Given the description of an element on the screen output the (x, y) to click on. 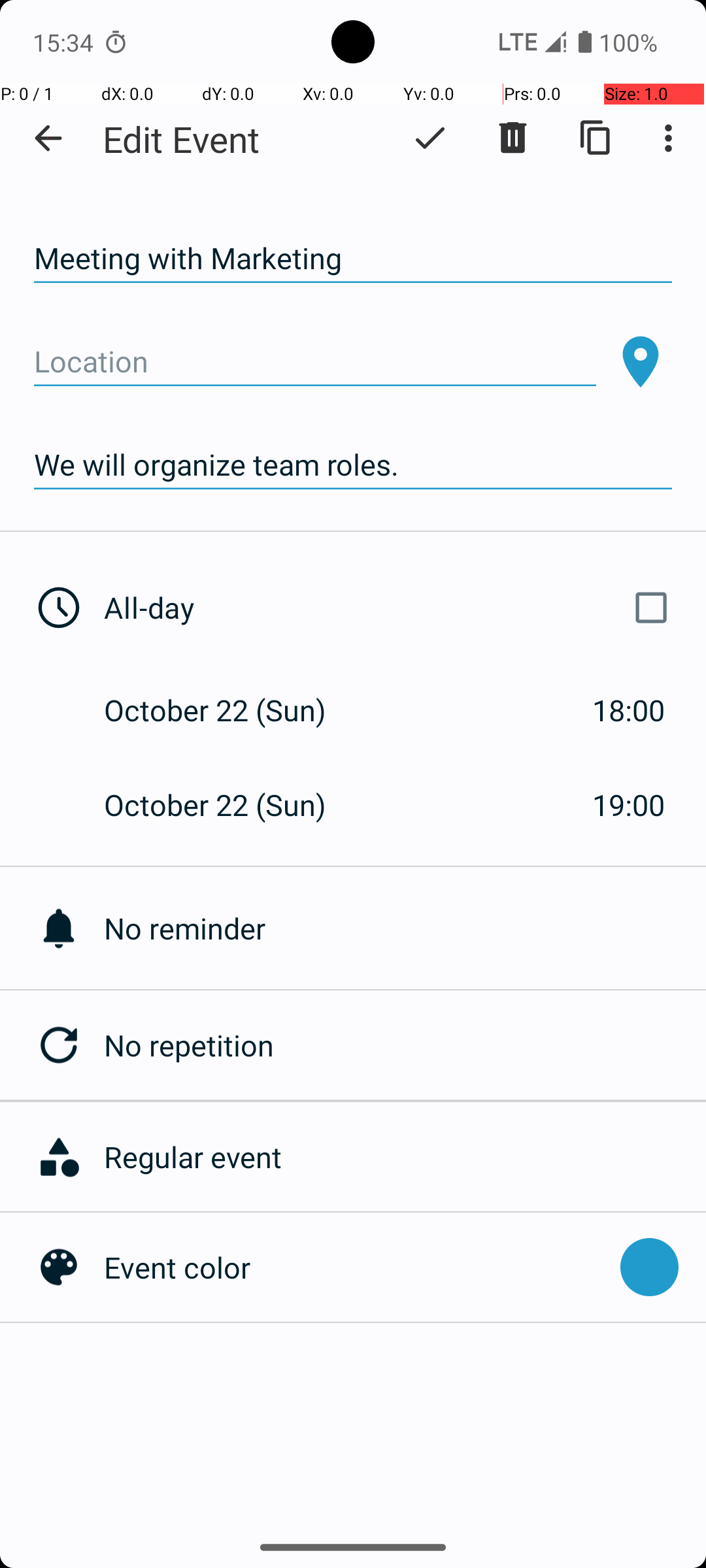
We will organize team roles. Element type: android.widget.EditText (352, 465)
October 22 (Sun) Element type: android.widget.TextView (228, 709)
